Given the description of an element on the screen output the (x, y) to click on. 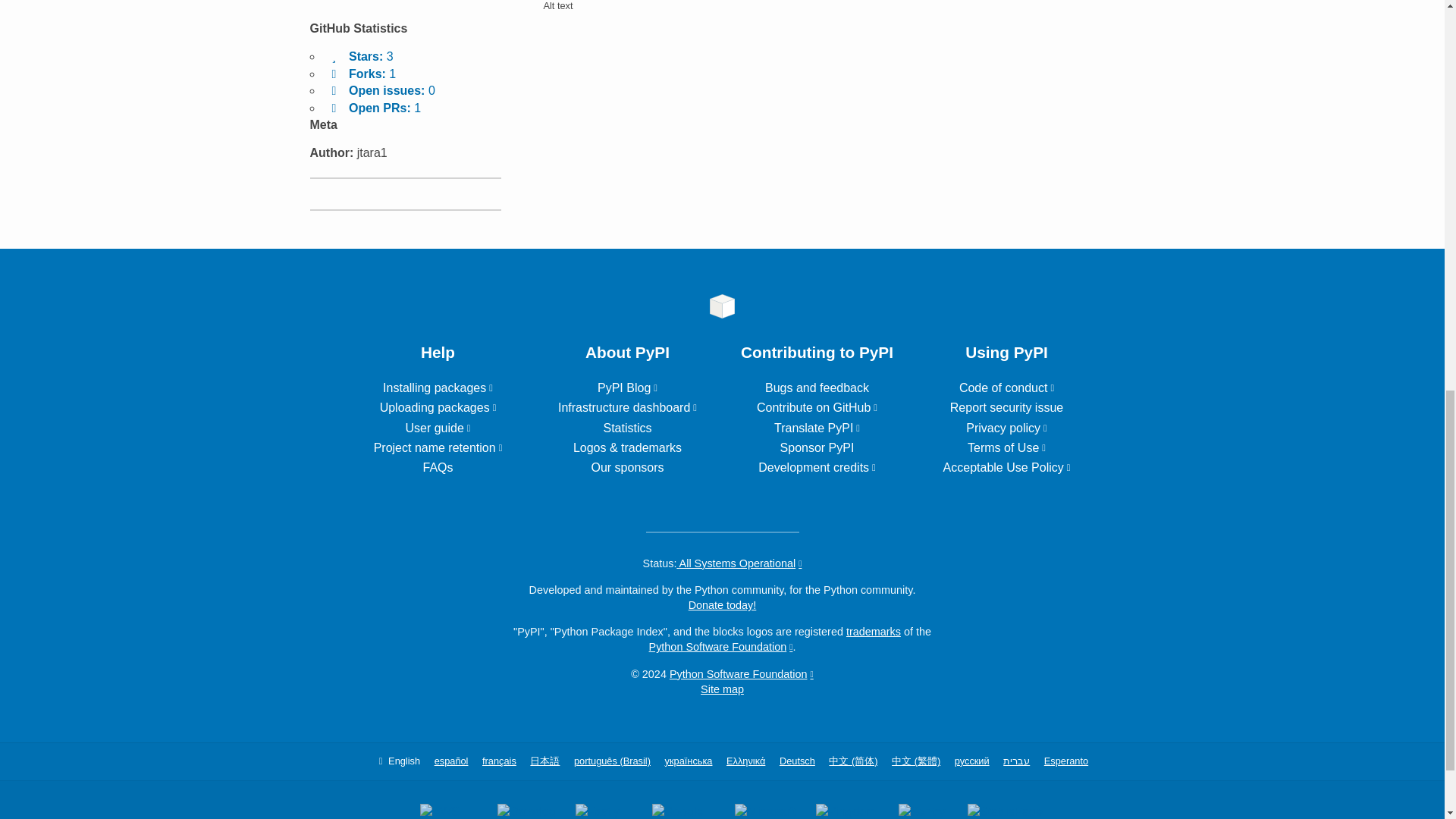
External link (438, 407)
Forks: 1 (361, 73)
External link (817, 427)
External link (437, 387)
External link (438, 447)
External link (627, 407)
Open issues: 0 (379, 90)
Open PRs: 1 (373, 107)
External link (437, 427)
External link (817, 407)
External link (627, 387)
Stars: 3 (359, 56)
